Given the description of an element on the screen output the (x, y) to click on. 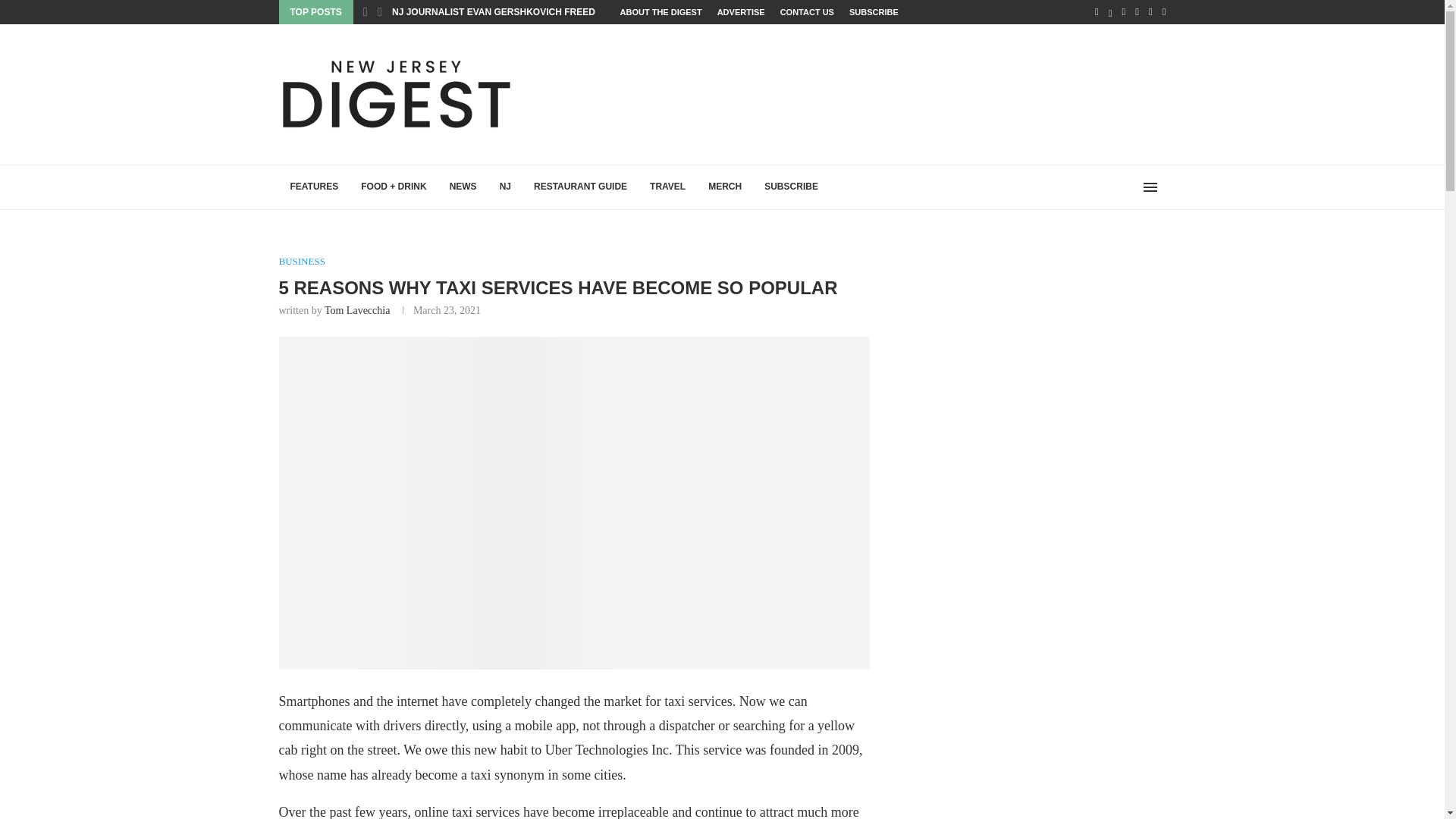
Tom Lavecchia (357, 310)
NJ JOURNALIST EVAN GERSHKOVICH FREED AFTER DETENTION IN... (546, 11)
SUBSCRIBE (873, 12)
NEWS (462, 186)
TRAVEL (668, 186)
RESTAURANT GUIDE (580, 186)
MERCH (724, 186)
BUSINESS (301, 261)
ADVERTISE (741, 12)
FEATURES (314, 186)
SUBSCRIBE (790, 186)
ABOUT THE DIGEST (660, 12)
CONTACT US (807, 12)
